Given the description of an element on the screen output the (x, y) to click on. 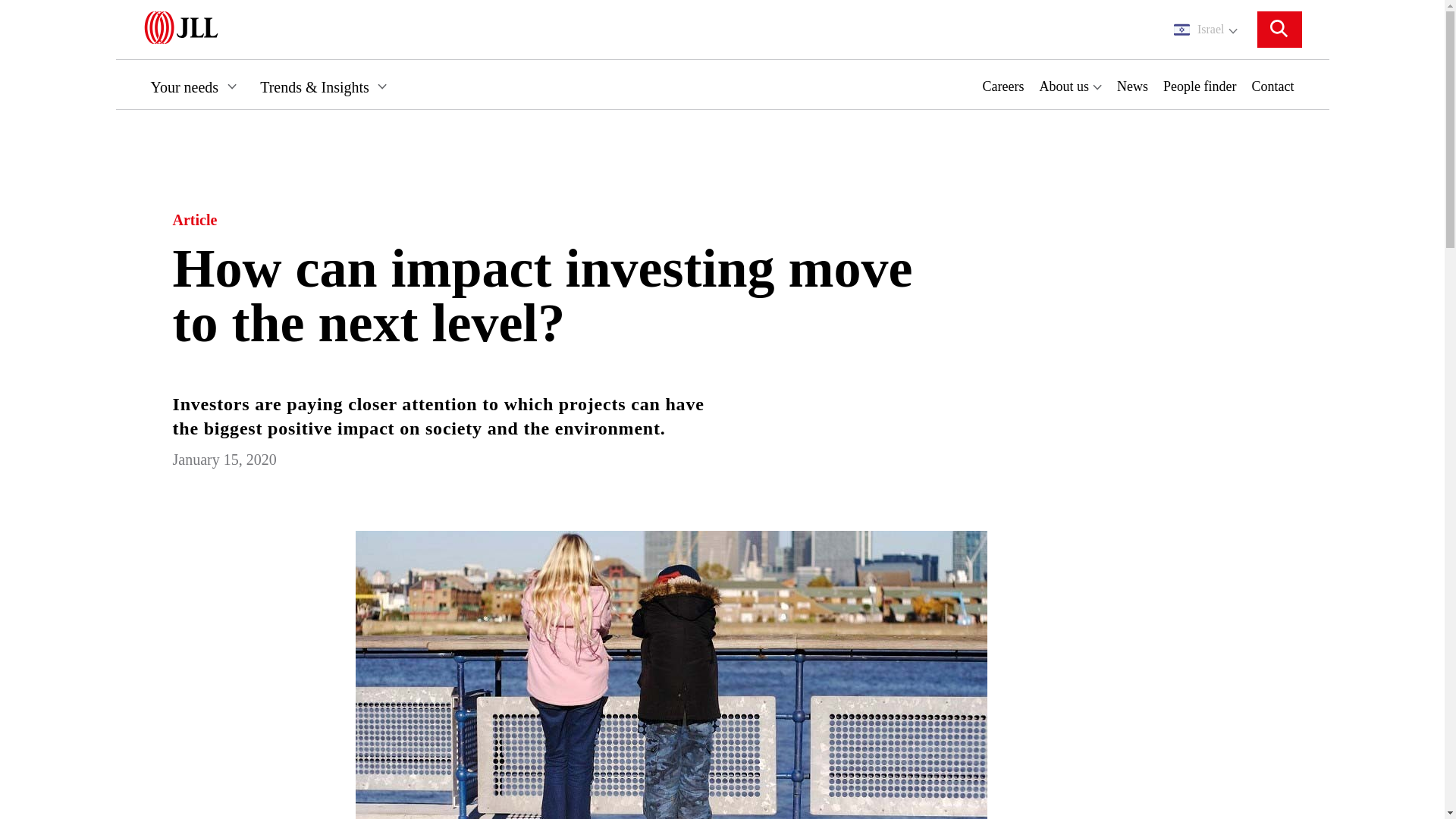
Israel (1206, 29)
